Given the description of an element on the screen output the (x, y) to click on. 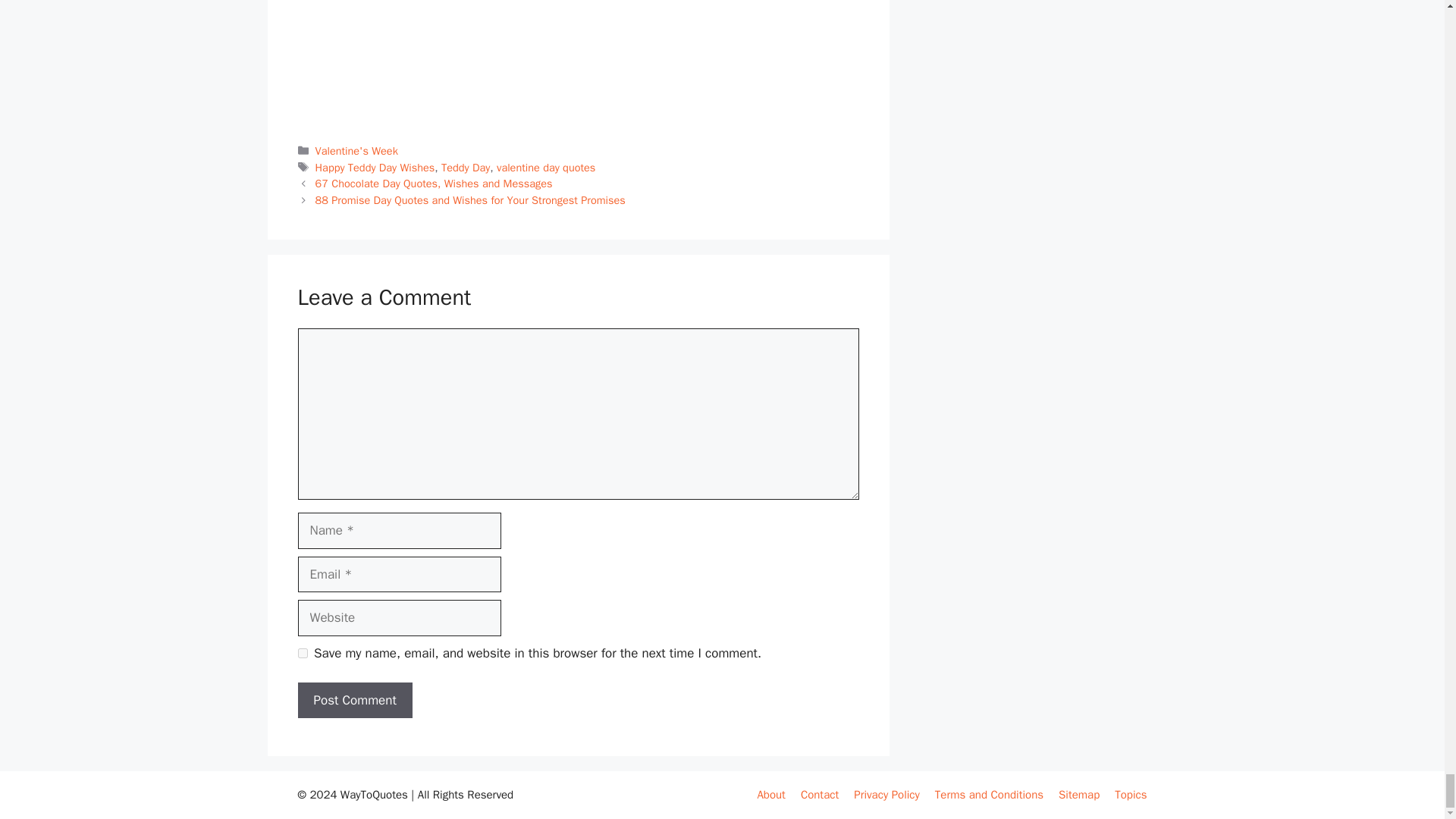
valentine day quotes (545, 167)
Happy Teddy Day Wishes (375, 167)
Valentine's Week (356, 151)
Post Comment (354, 700)
Teddy Day (465, 167)
yes (302, 653)
